Given the description of an element on the screen output the (x, y) to click on. 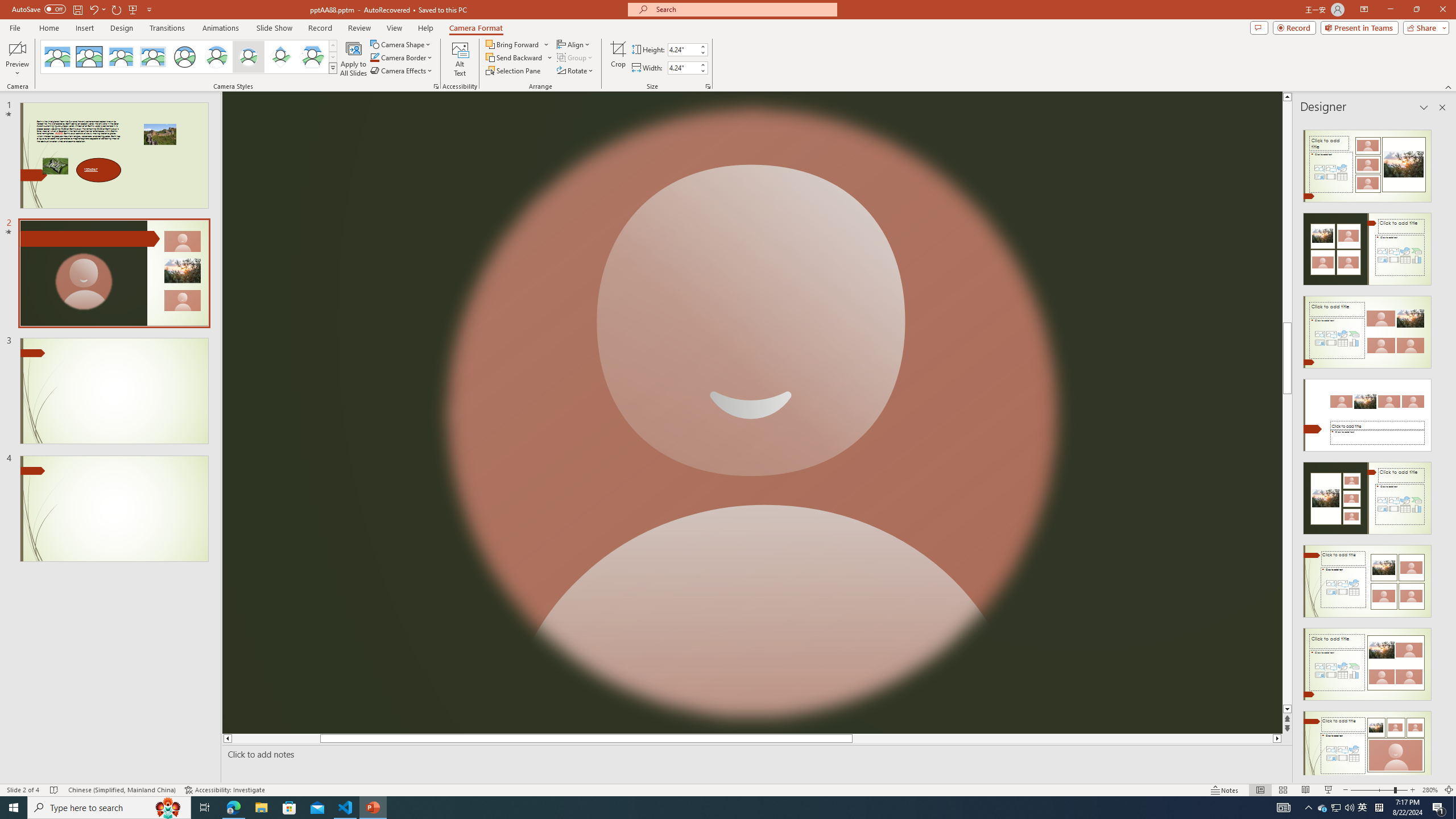
Redo (117, 9)
Center Shadow Hexagon (312, 56)
Close pane (1441, 107)
Bring Forward (513, 44)
Row up (333, 45)
Normal (1260, 790)
Camera Shape (400, 44)
Soft Edge Circle (248, 56)
Zoom Out (1372, 790)
Slide Show (273, 28)
AutoSave (38, 9)
Undo (96, 9)
Cameo Width (682, 67)
From Beginning (133, 9)
